Given the description of an element on the screen output the (x, y) to click on. 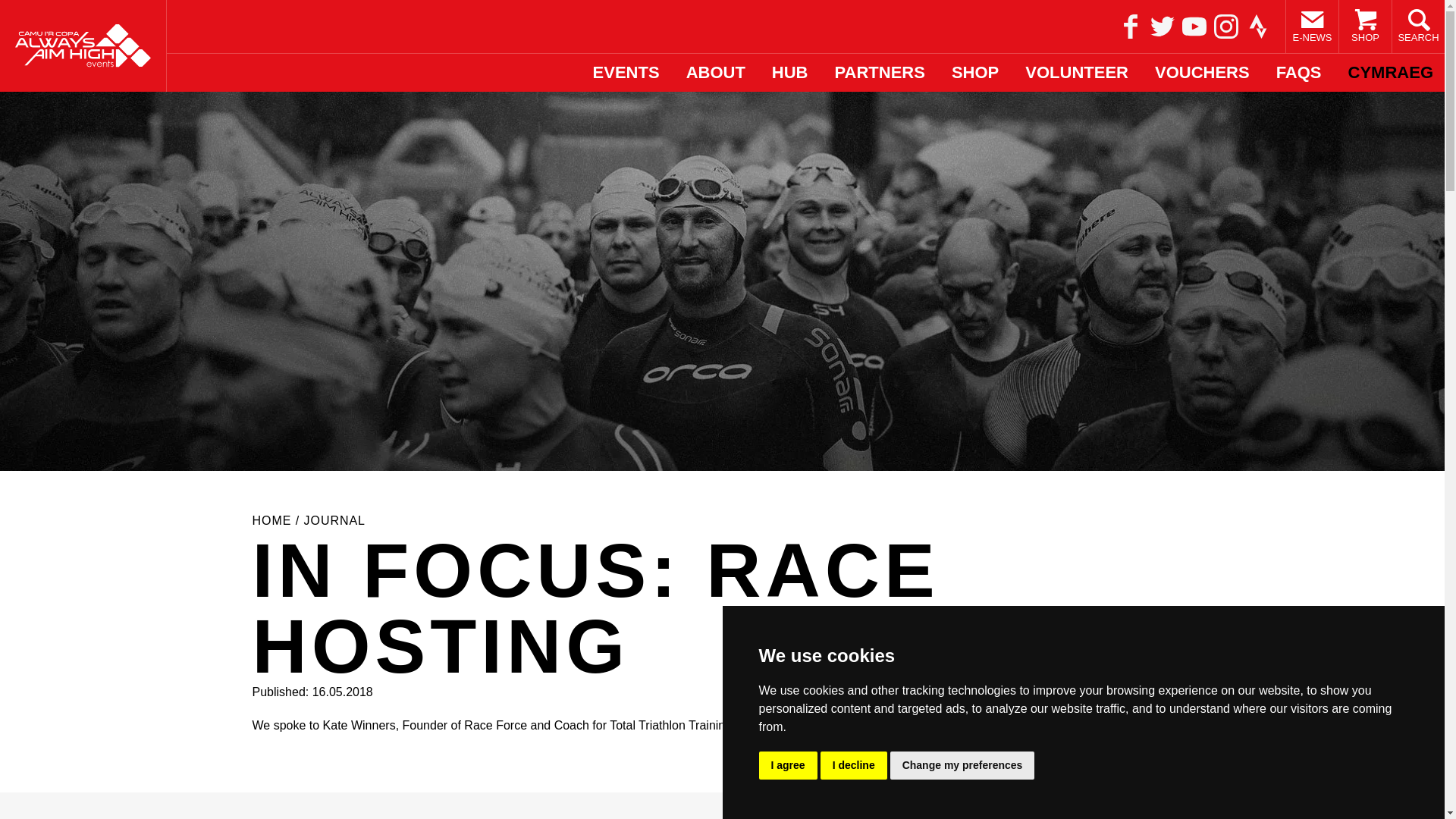
Kate Winners (359, 725)
I decline (853, 765)
SHOP (975, 72)
SHOP (1364, 26)
ABOUT (716, 72)
E-NEWS (1311, 26)
JOURNAL (334, 520)
HUB (789, 72)
VOLUNTEER (1076, 72)
PARTNERS (880, 72)
VOUCHERS (1201, 72)
EVENTS (625, 72)
HOME (271, 520)
I agree (787, 765)
Change my preferences (962, 765)
